Given the description of an element on the screen output the (x, y) to click on. 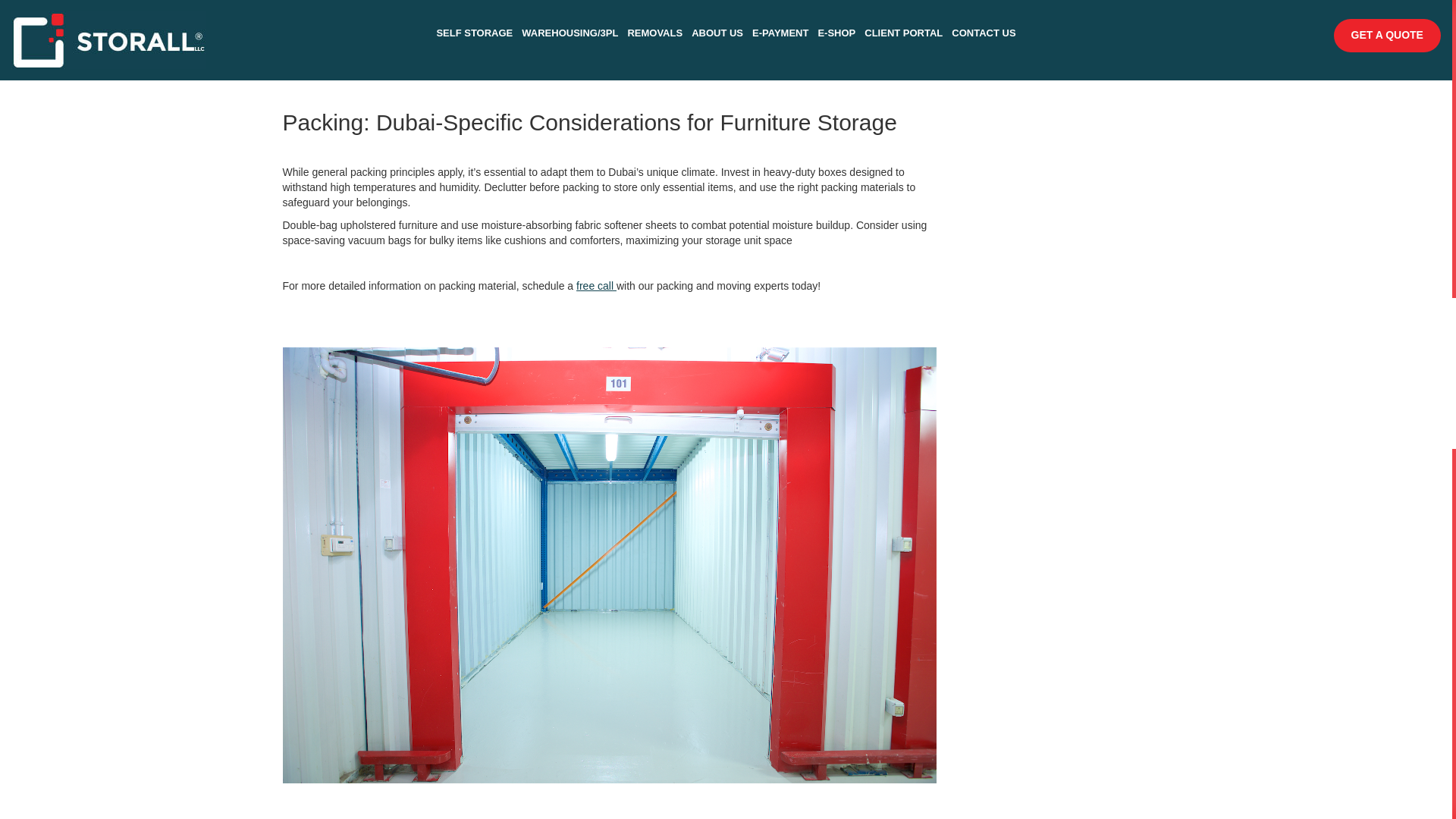
free call (595, 285)
